Given the description of an element on the screen output the (x, y) to click on. 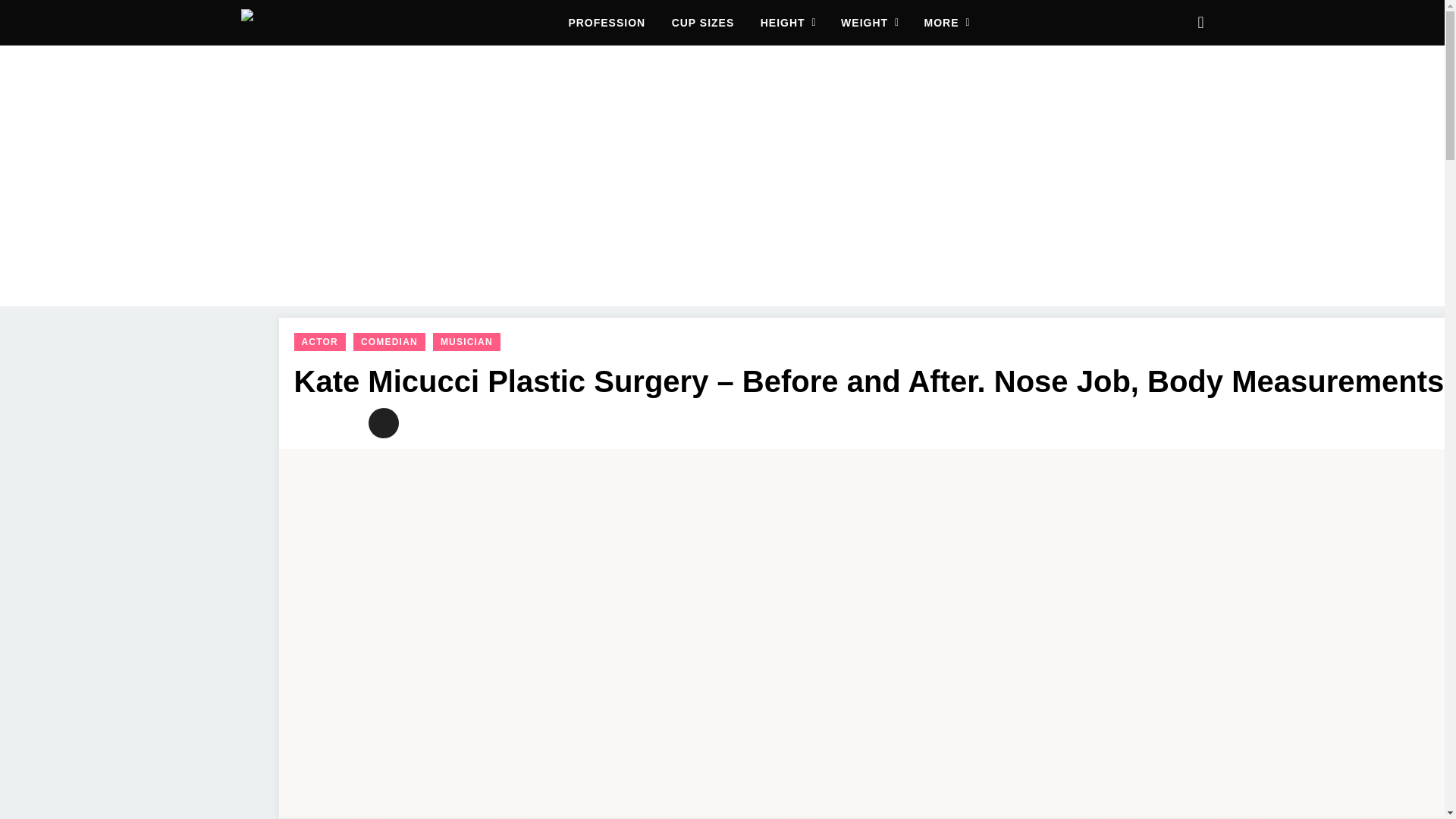
PROFESSION (606, 22)
MORE (947, 22)
Share via Email (383, 422)
COMEDIAN (389, 341)
WEIGHT (870, 22)
HEIGHT (788, 22)
Share on Twitter (309, 422)
ACTOR (320, 341)
CUP SIZES (703, 22)
Search (1200, 22)
MUSICIAN (466, 341)
Share on Pinterest (346, 422)
